Given the description of an element on the screen output the (x, y) to click on. 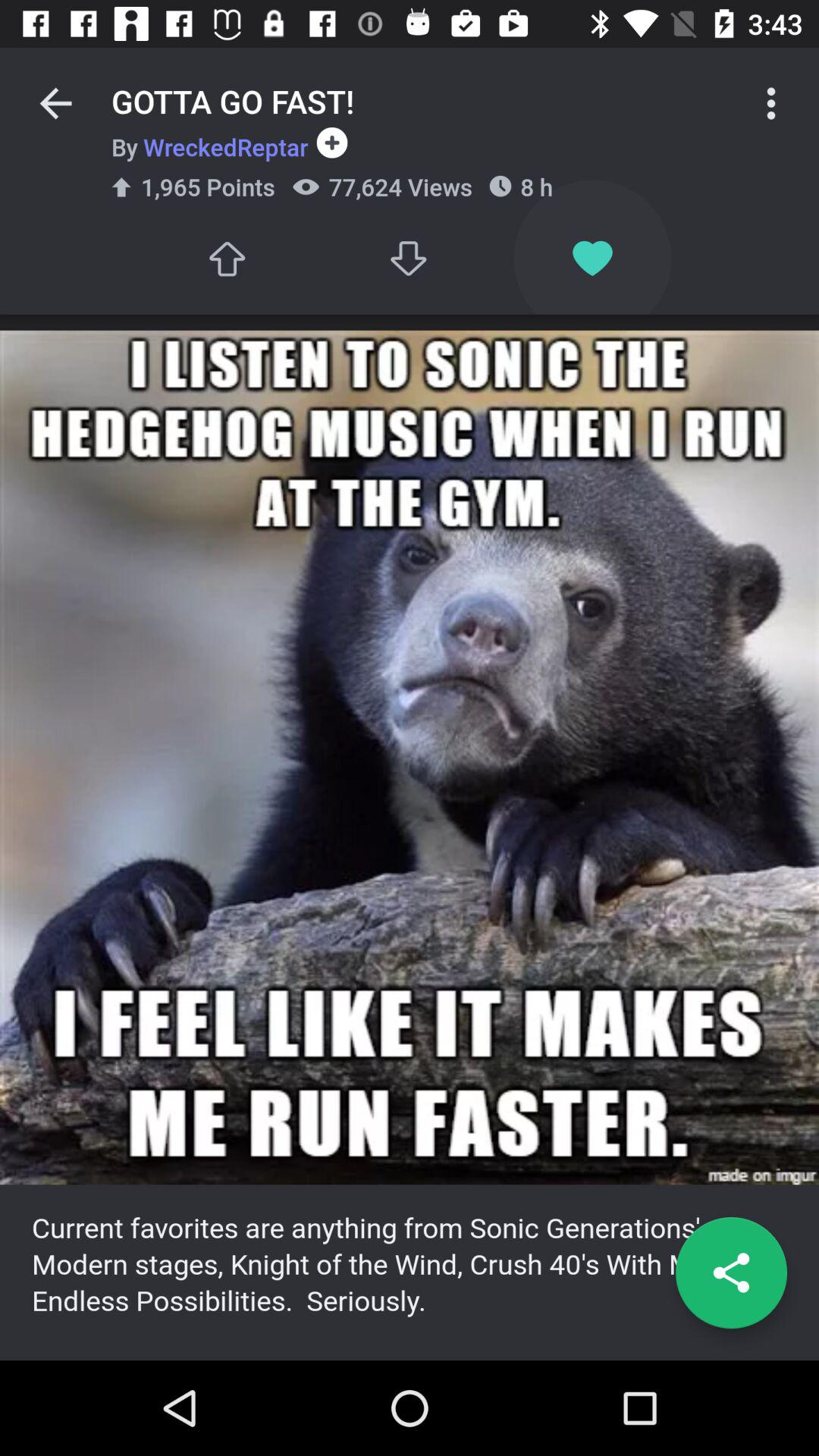
show menu (771, 103)
